Given the description of an element on the screen output the (x, y) to click on. 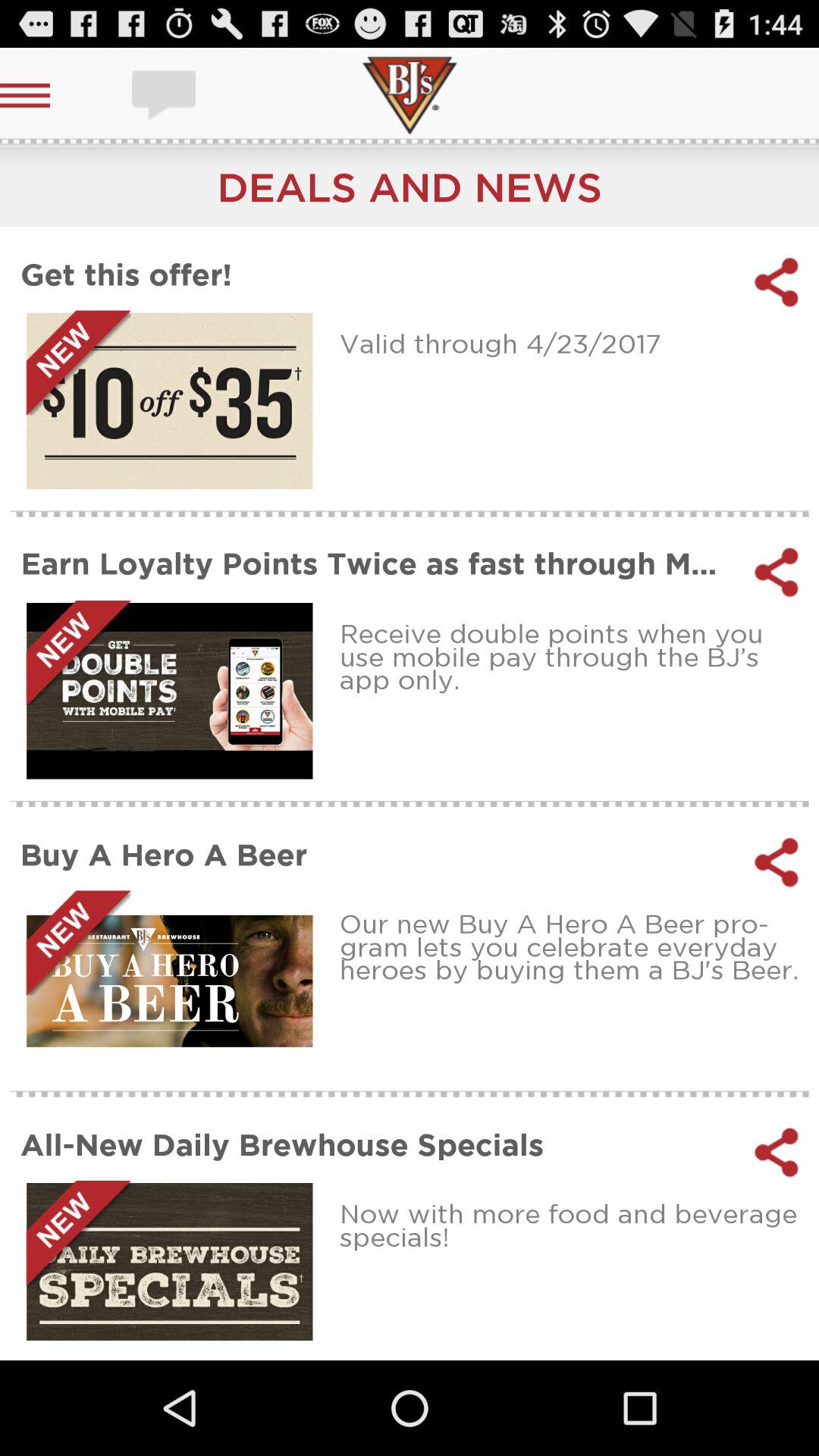
share (776, 572)
